Given the description of an element on the screen output the (x, y) to click on. 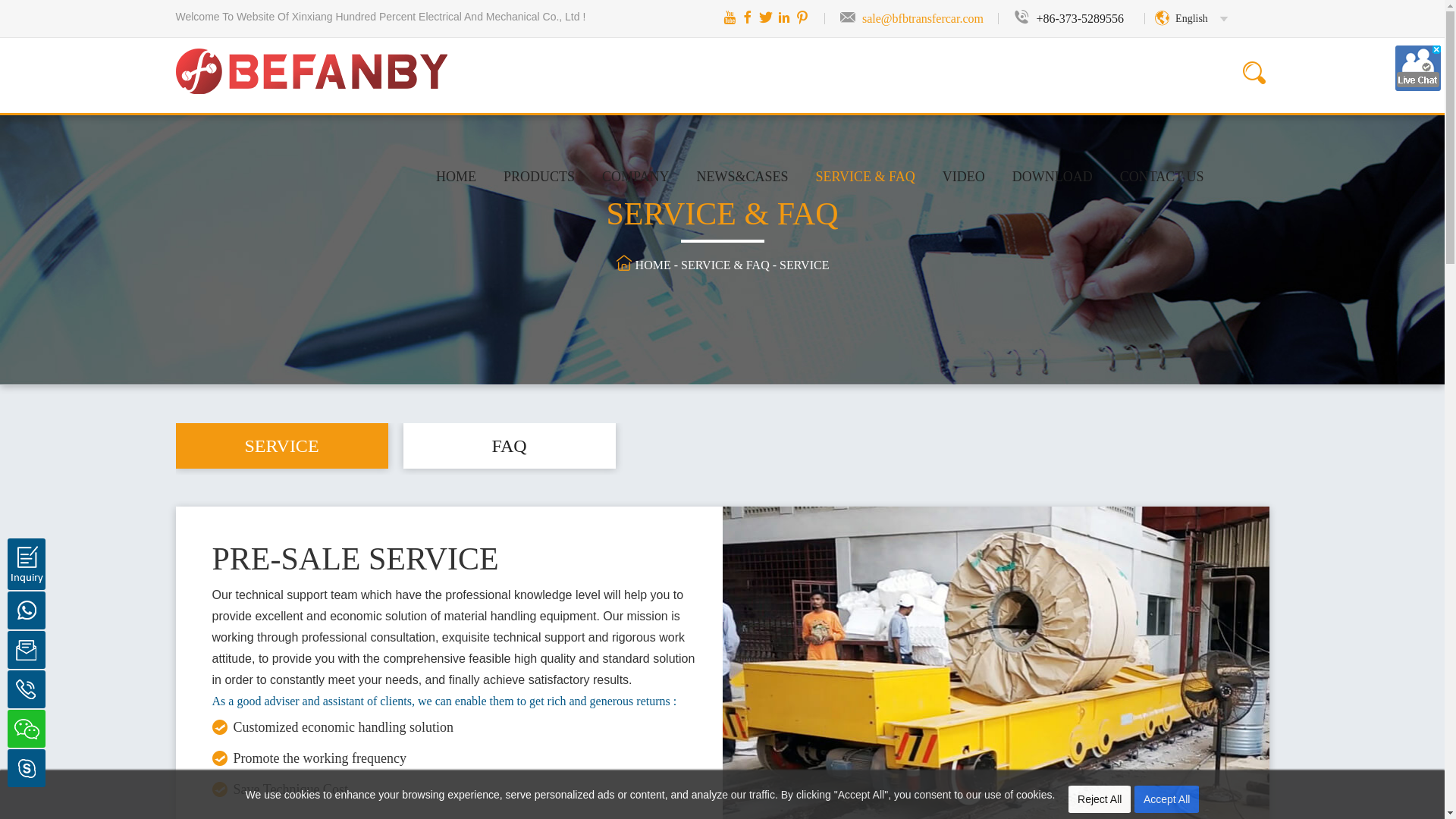
Xinxiang Hundred Percent Electrical and Mechanical Co., Ltd. (312, 54)
linkedin (783, 17)
facebook (747, 17)
English (1191, 18)
youtube (729, 17)
Accept All (1166, 799)
HOME (455, 176)
Home (455, 176)
Products (538, 176)
Reject All (1099, 799)
